Given the description of an element on the screen output the (x, y) to click on. 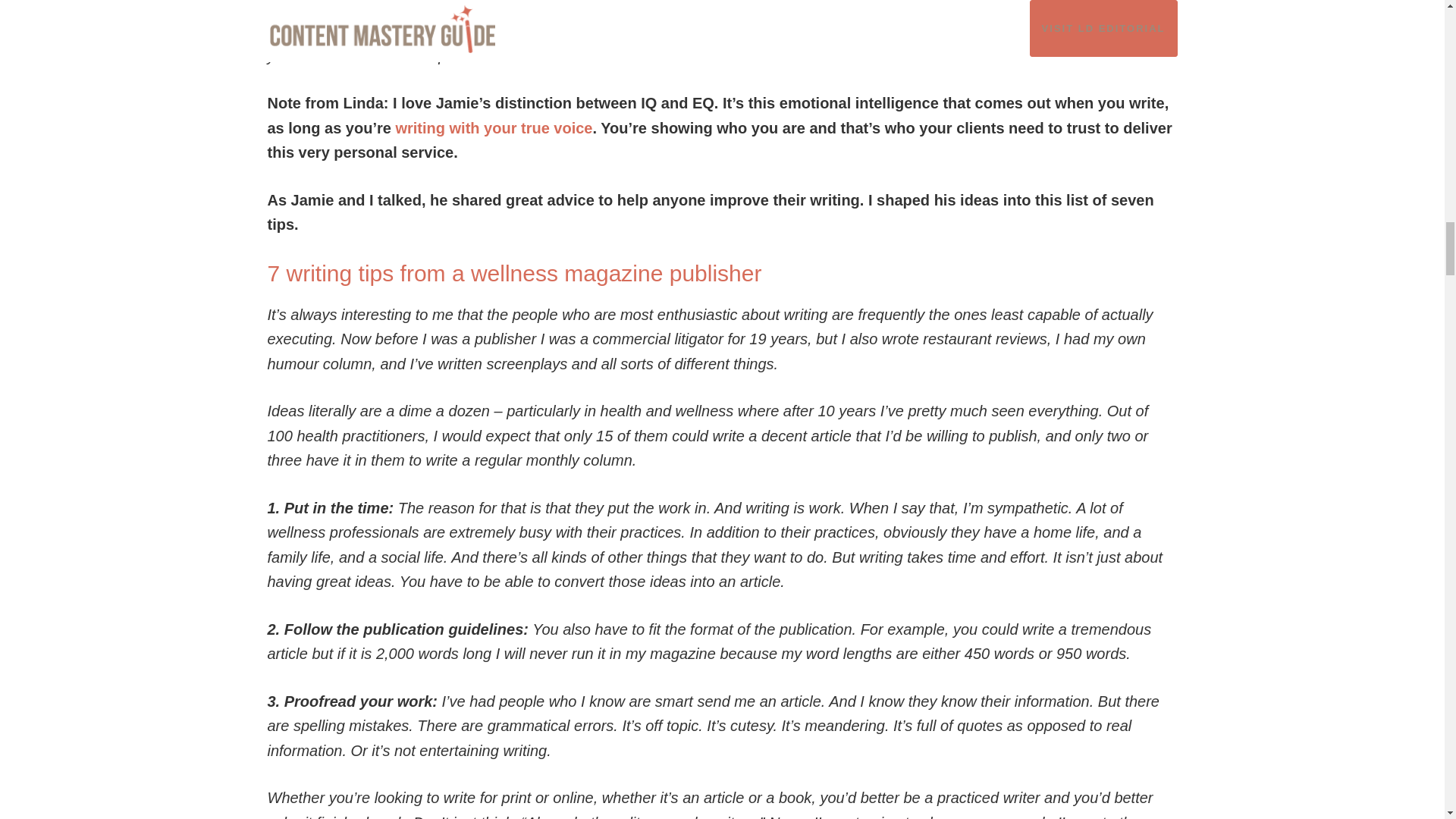
writing with your true voice (493, 127)
